Given the description of an element on the screen output the (x, y) to click on. 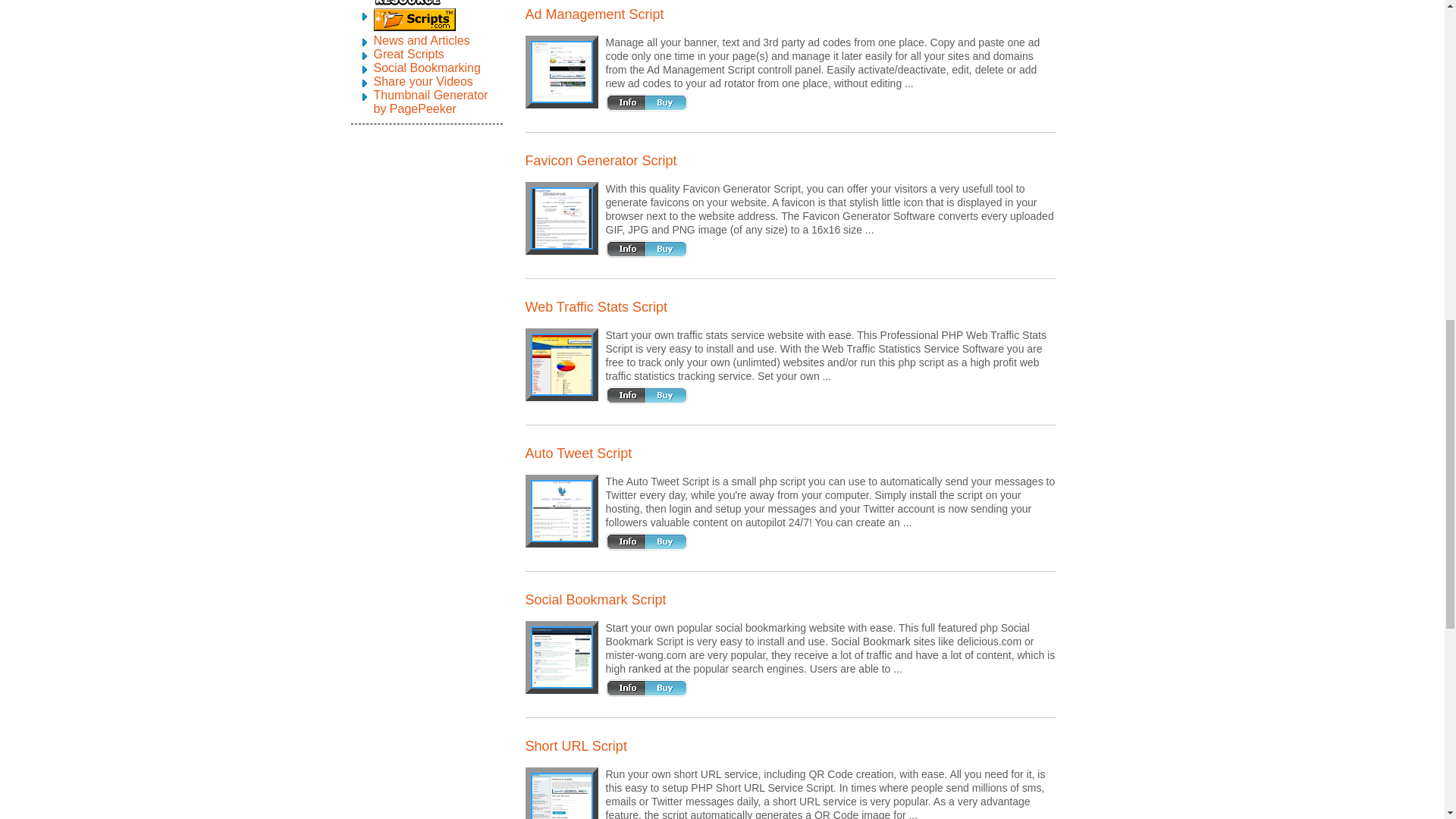
Favicon Generator Script (561, 218)
Share your Videos (421, 81)
News and Articles (420, 40)
Social Bookmarking (426, 67)
Auto Tweet Script (561, 510)
Thumbnail Generator by PagePeeker (429, 101)
Share your Videos (421, 81)
Ad Management Script (561, 71)
Web Traffic Stats Script (561, 363)
News and Articles (420, 40)
Great-Scripts.com (408, 53)
Social Bookmark Script (561, 657)
Great Scripts (408, 53)
Short URL Script (561, 796)
Social Bookmarking (426, 67)
